Given the description of an element on the screen output the (x, y) to click on. 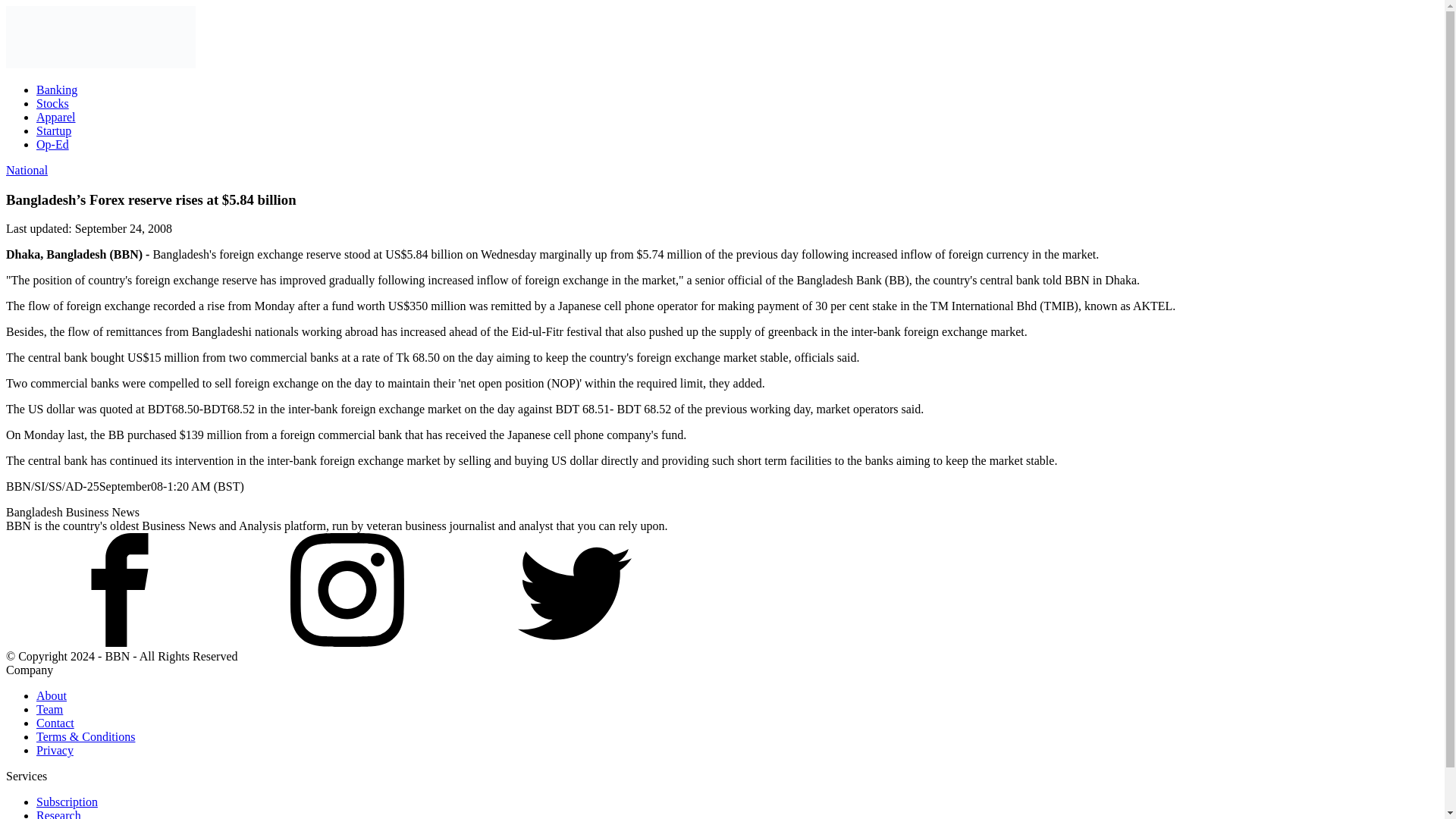
Visit our Facebook (118, 642)
About (51, 695)
Team (49, 708)
Visit our Instagram (346, 590)
Banking (56, 89)
Op-Ed (52, 144)
Visit our Facebook (118, 590)
Startup (53, 130)
Apparel (55, 116)
Visit our Twitter (574, 590)
